Given the description of an element on the screen output the (x, y) to click on. 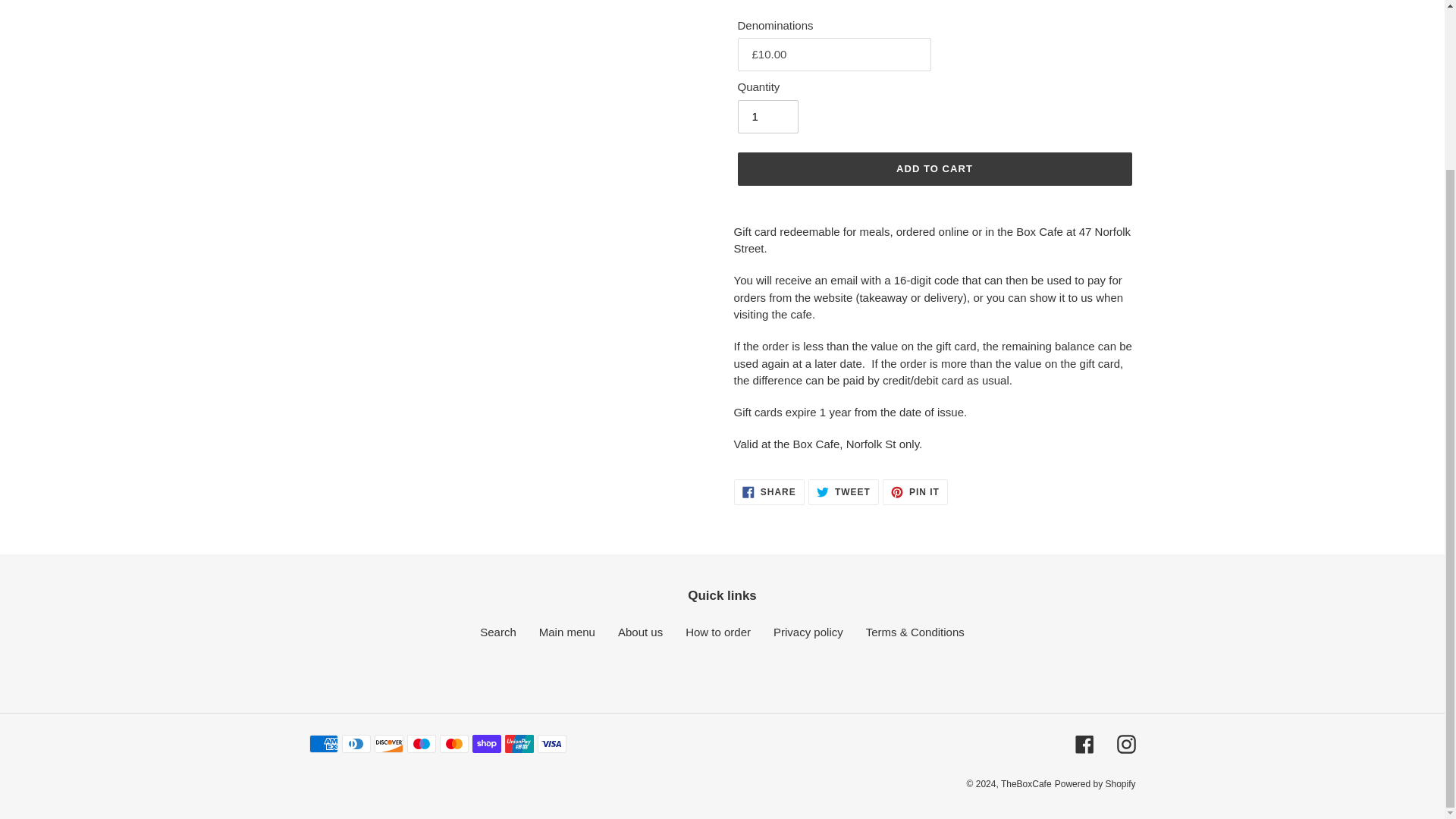
Search (498, 631)
1 (769, 492)
ADD TO CART (914, 492)
Main menu (766, 116)
